Given the description of an element on the screen output the (x, y) to click on. 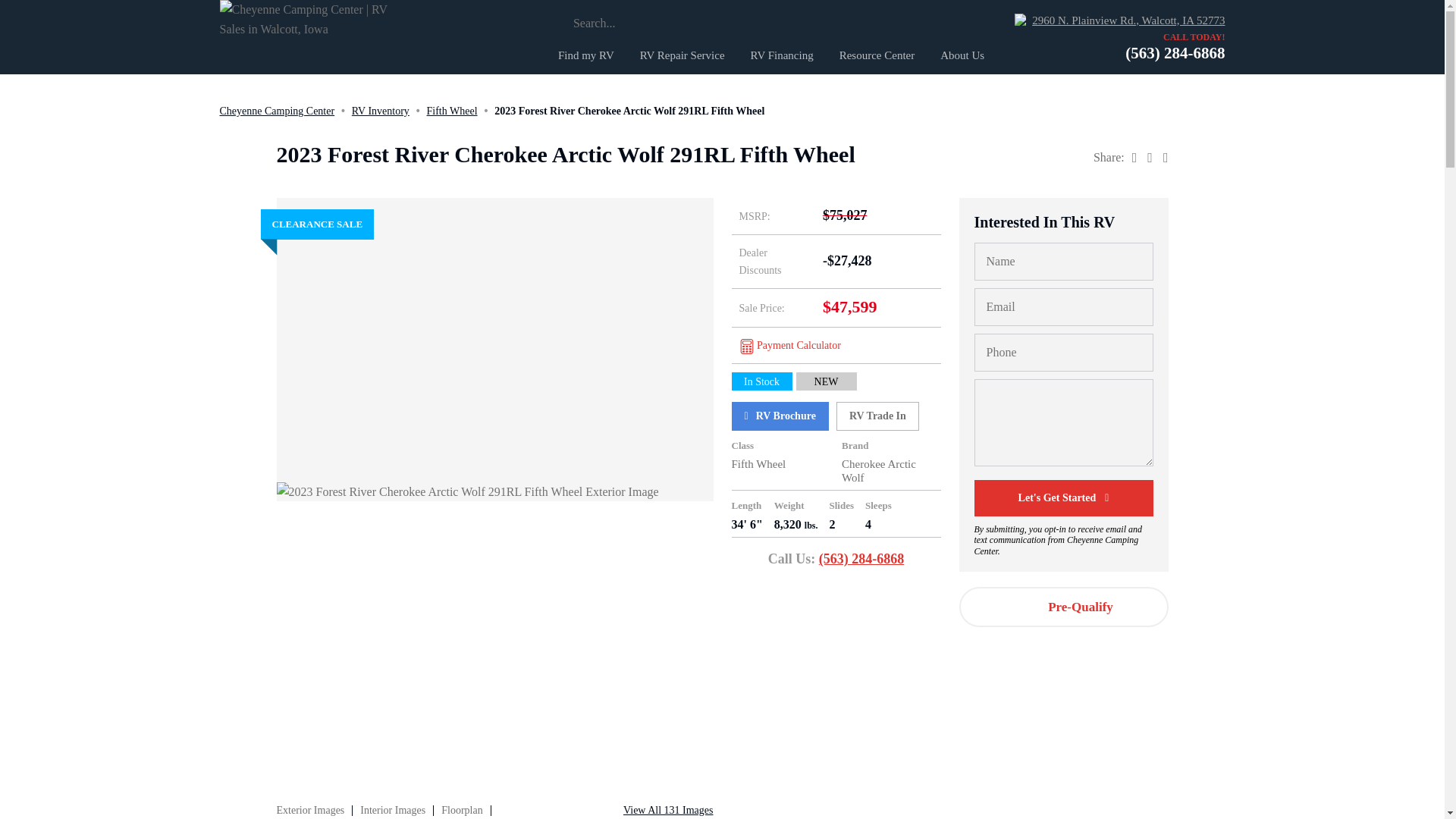
Fifth Wheel (451, 111)
Cheyenne Camping Center (276, 111)
Resource Center (877, 55)
RV Repair Service (682, 55)
2960 N. Plainview Rd., Walcott, IA 52773 (1119, 20)
RV Financing (782, 55)
About Us (962, 55)
Find my RV (585, 55)
RV Inventory (380, 111)
